Given the description of an element on the screen output the (x, y) to click on. 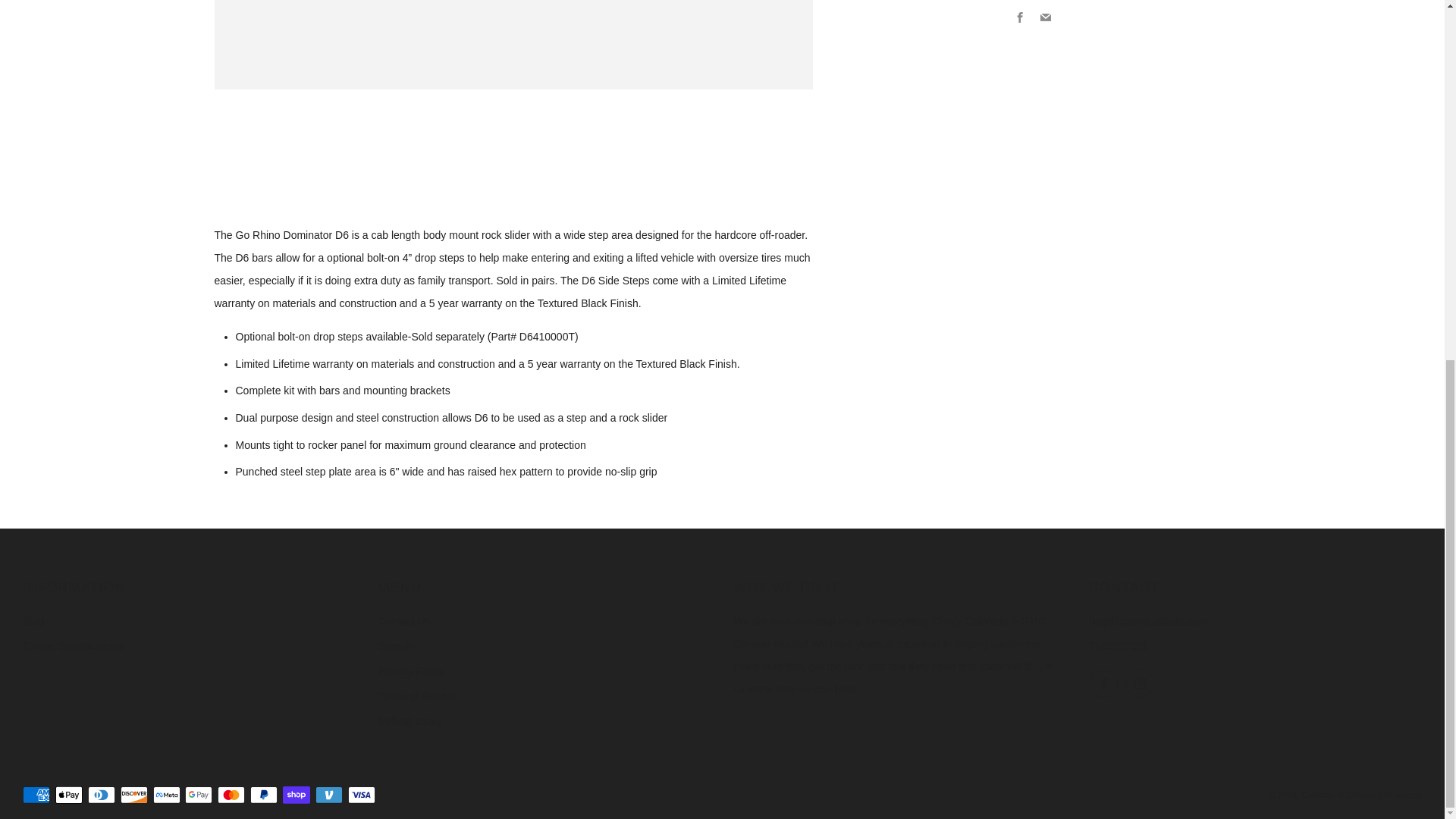
Google Pay (198, 794)
Meta Pay (166, 794)
Shop Pay (296, 794)
Discover (134, 794)
American Express (36, 794)
Apple Pay (68, 794)
Venmo (328, 794)
Visa (361, 794)
Mastercard (230, 794)
PayPal (264, 794)
Diners Club (101, 794)
